Given the description of an element on the screen output the (x, y) to click on. 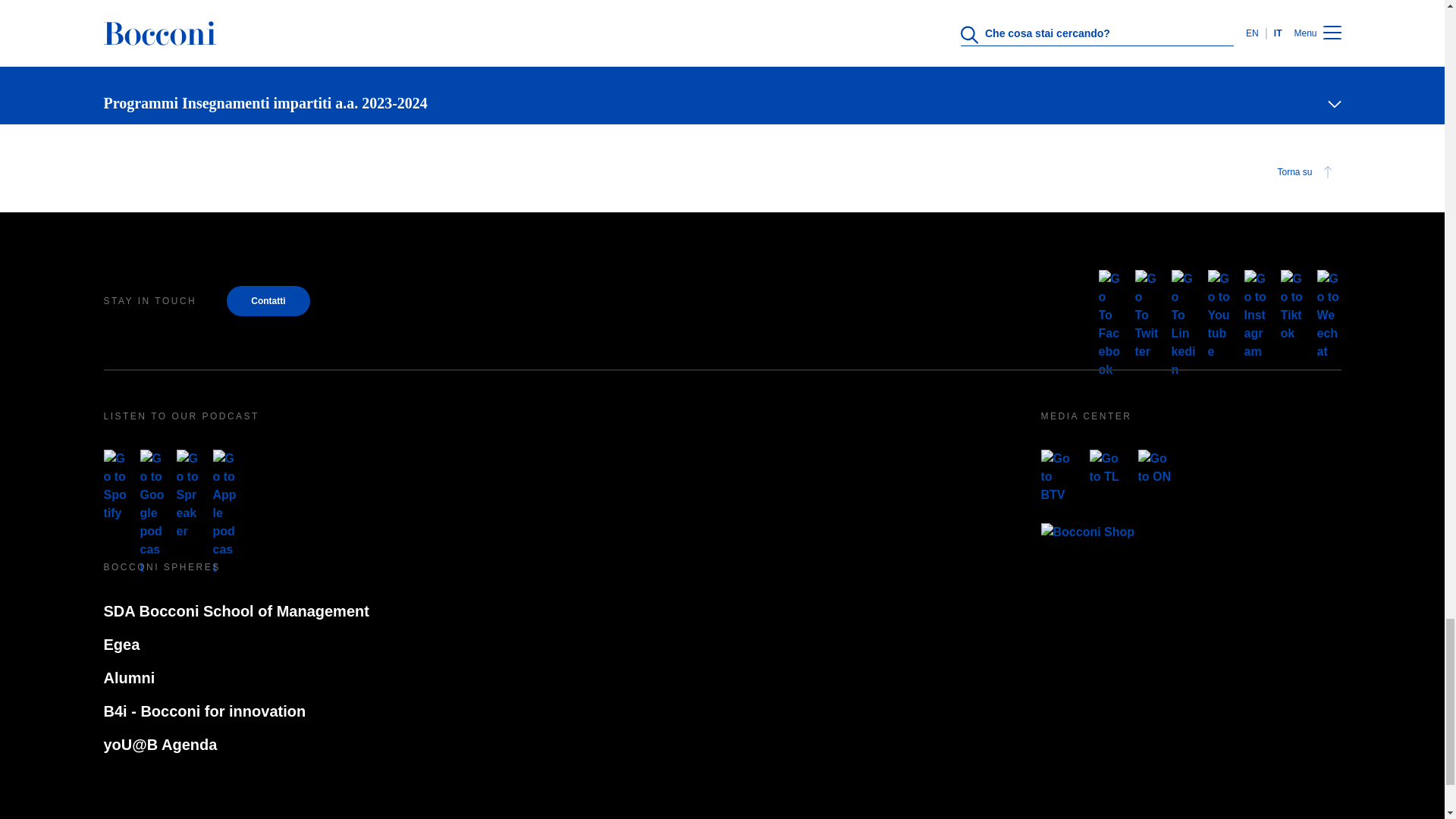
Torna su (721, 171)
ON (1155, 467)
Torna su (1306, 171)
TL (1107, 467)
